Given the description of an element on the screen output the (x, y) to click on. 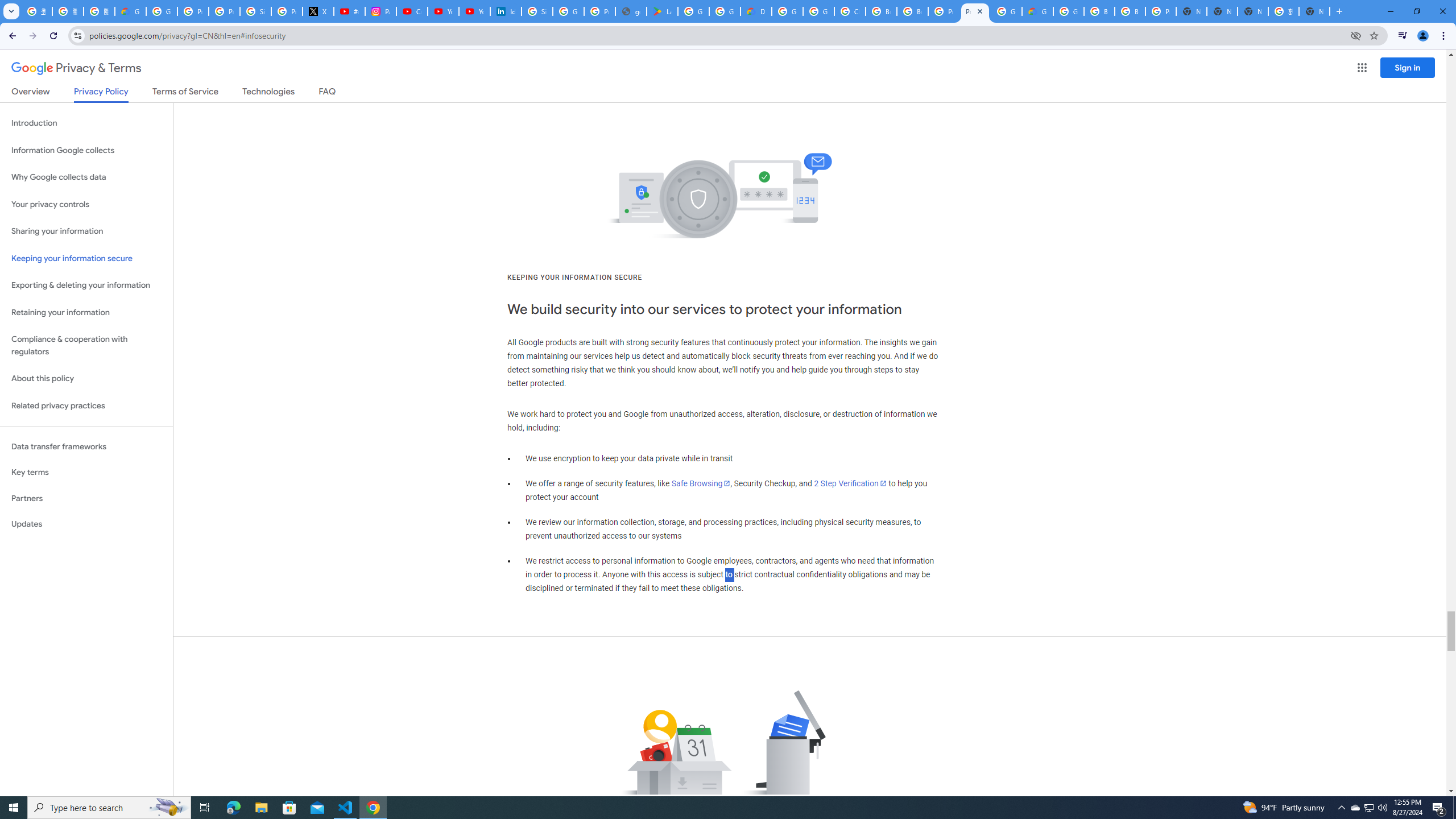
Google Workspace - Specific Terms (724, 11)
Compliance & cooperation with regulators (86, 345)
Last Shelter: Survival - Apps on Google Play (662, 11)
Google Cloud Platform (1005, 11)
New Tab (1190, 11)
Your privacy controls (86, 204)
Sign in - Google Accounts (255, 11)
